Given the description of an element on the screen output the (x, y) to click on. 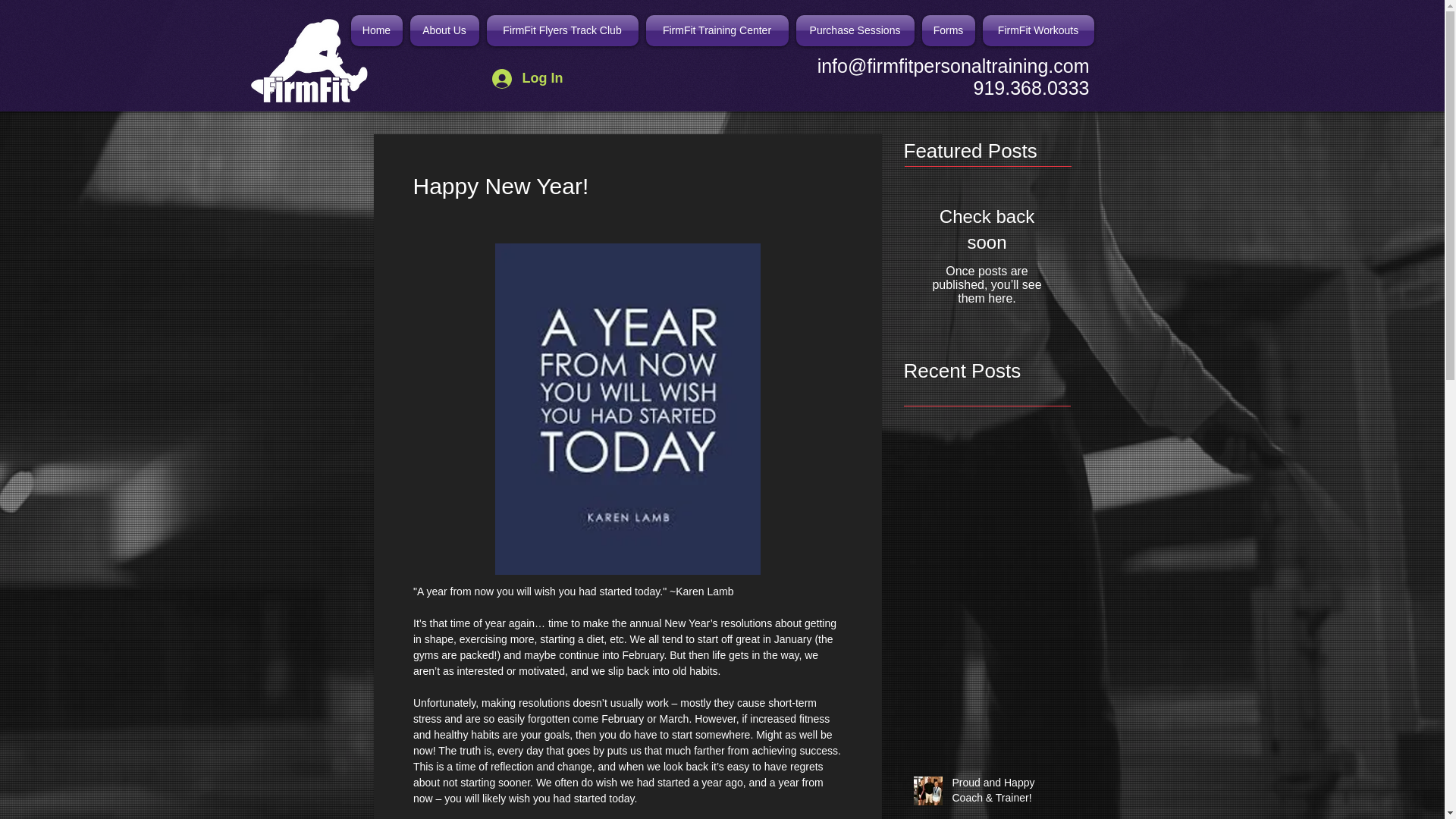
FirmFit Training Center (717, 30)
Forms (947, 30)
Log In (527, 78)
FirmFit Workouts (1035, 30)
FirmFit Flyers Track Club (561, 30)
Home (378, 30)
Purchase Sessions (854, 30)
About Us (444, 30)
